Given the description of an element on the screen output the (x, y) to click on. 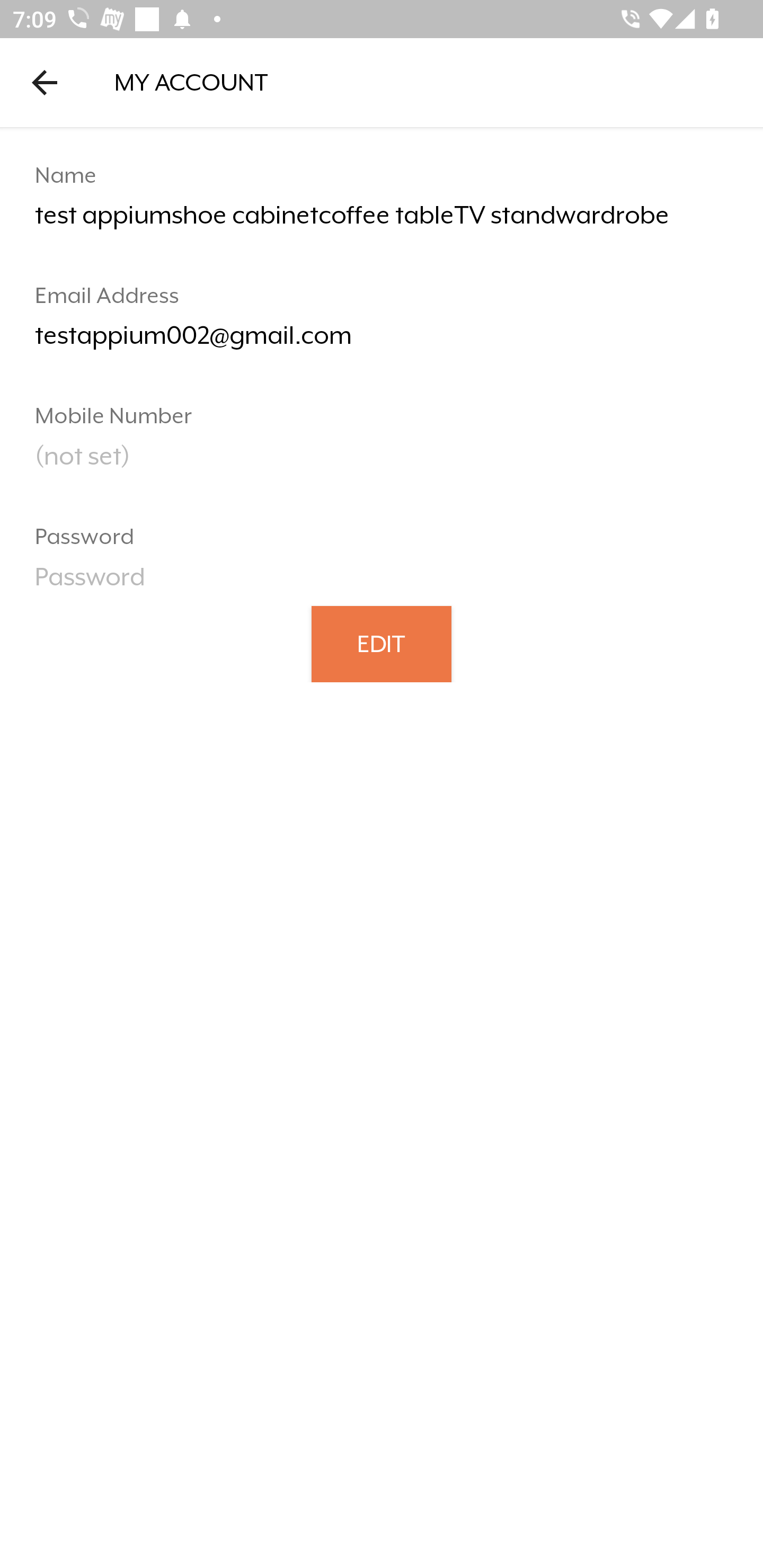
Navigate up (44, 82)
testappium002@gmail.com (381, 342)
Password (381, 583)
EDIT (381, 643)
